Given the description of an element on the screen output the (x, y) to click on. 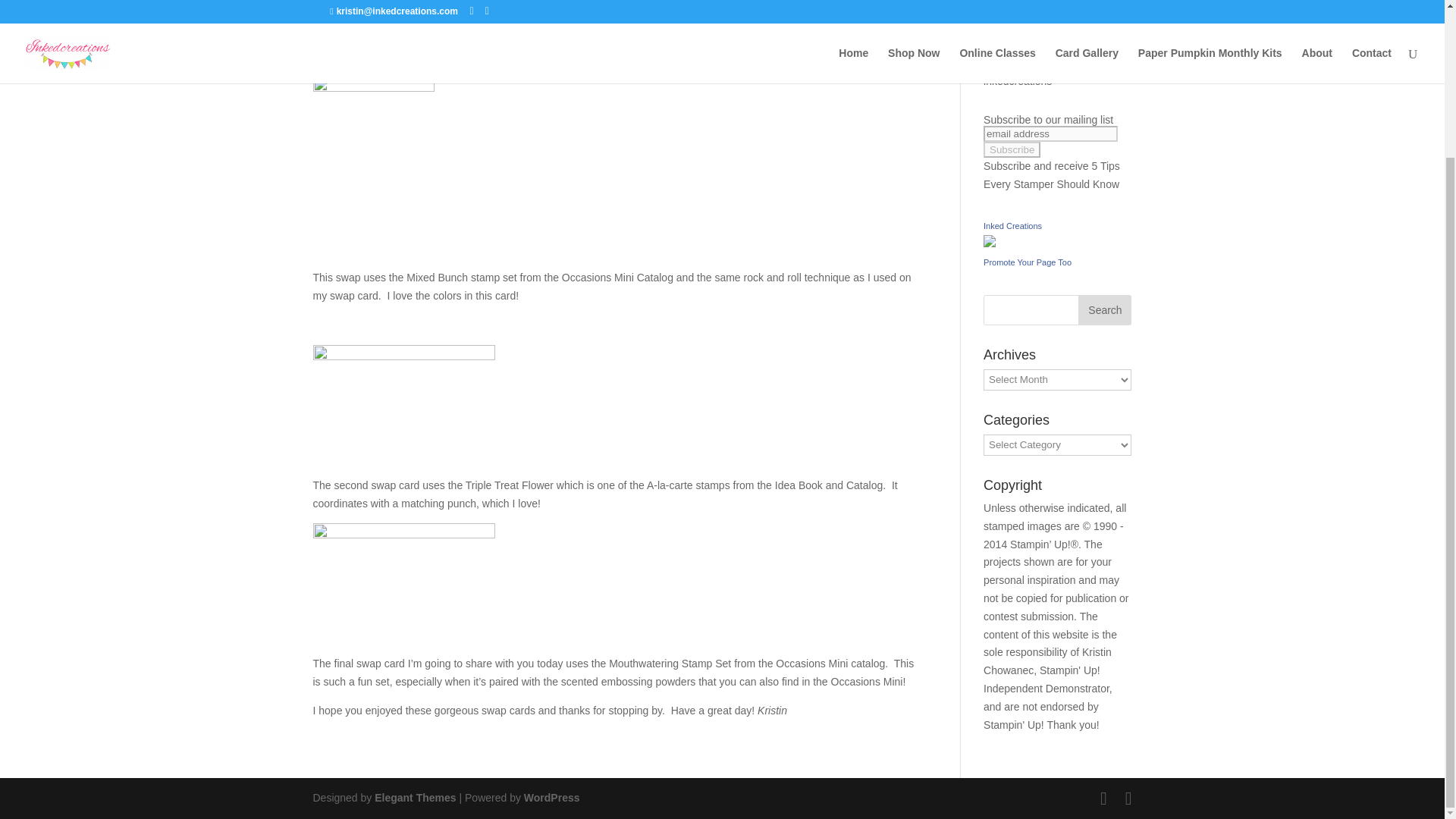
Search (1104, 309)
Subscribe (1012, 149)
Inked Creations (1013, 225)
inkedcreations (1017, 80)
Make your own badge! (1027, 261)
Subscribe (1012, 149)
Elegant Themes (414, 797)
Search (1104, 309)
Premium WordPress Themes (414, 797)
WordPress (551, 797)
Inked Creations (989, 243)
Promote Your Page Too (1027, 261)
Inked Creations (1013, 225)
